Given the description of an element on the screen output the (x, y) to click on. 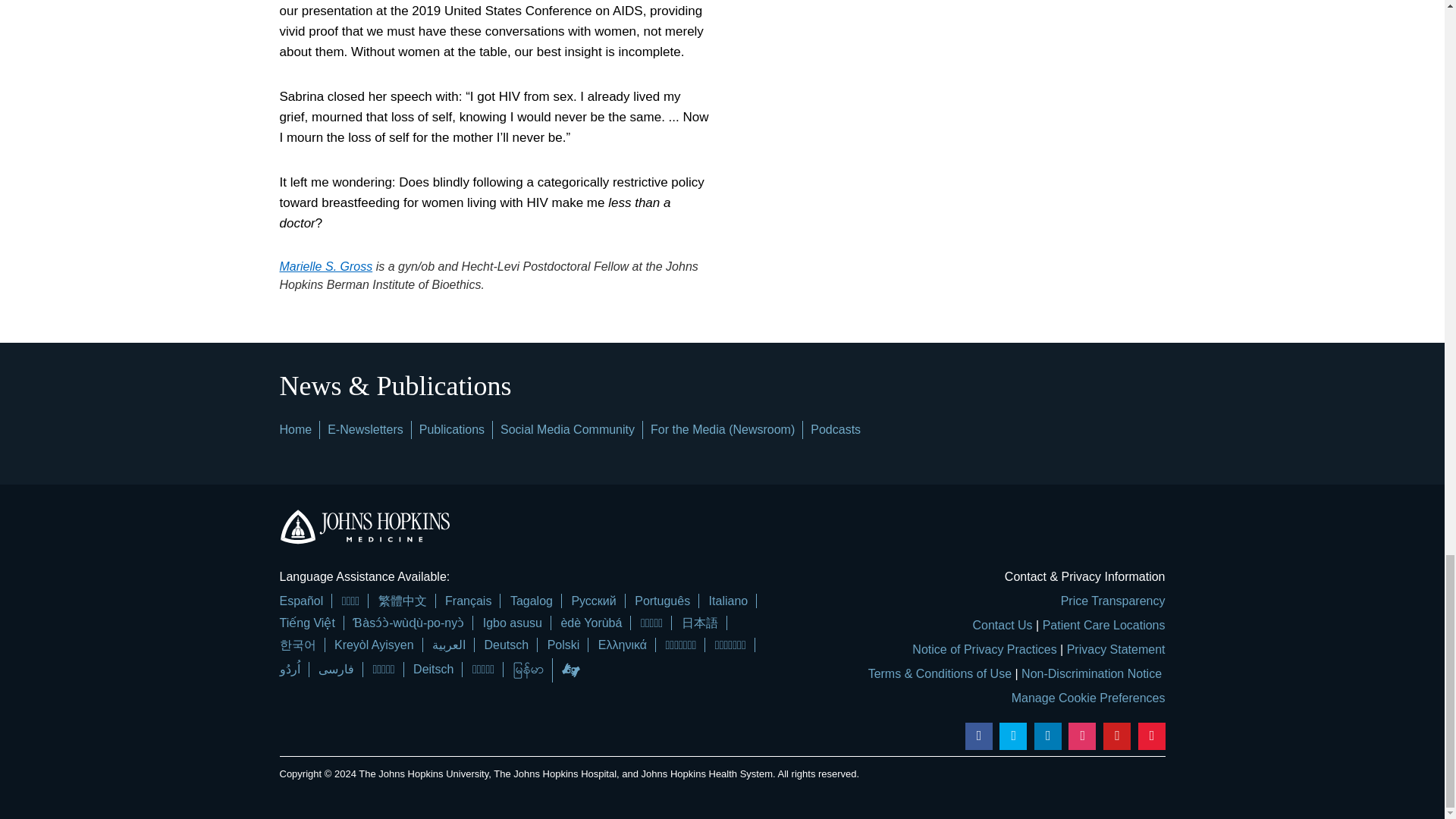
Social Media Community (567, 429)
Marielle S. Gross (325, 266)
E-Newsletters (365, 429)
Home (295, 429)
Publications (451, 429)
